Given the description of an element on the screen output the (x, y) to click on. 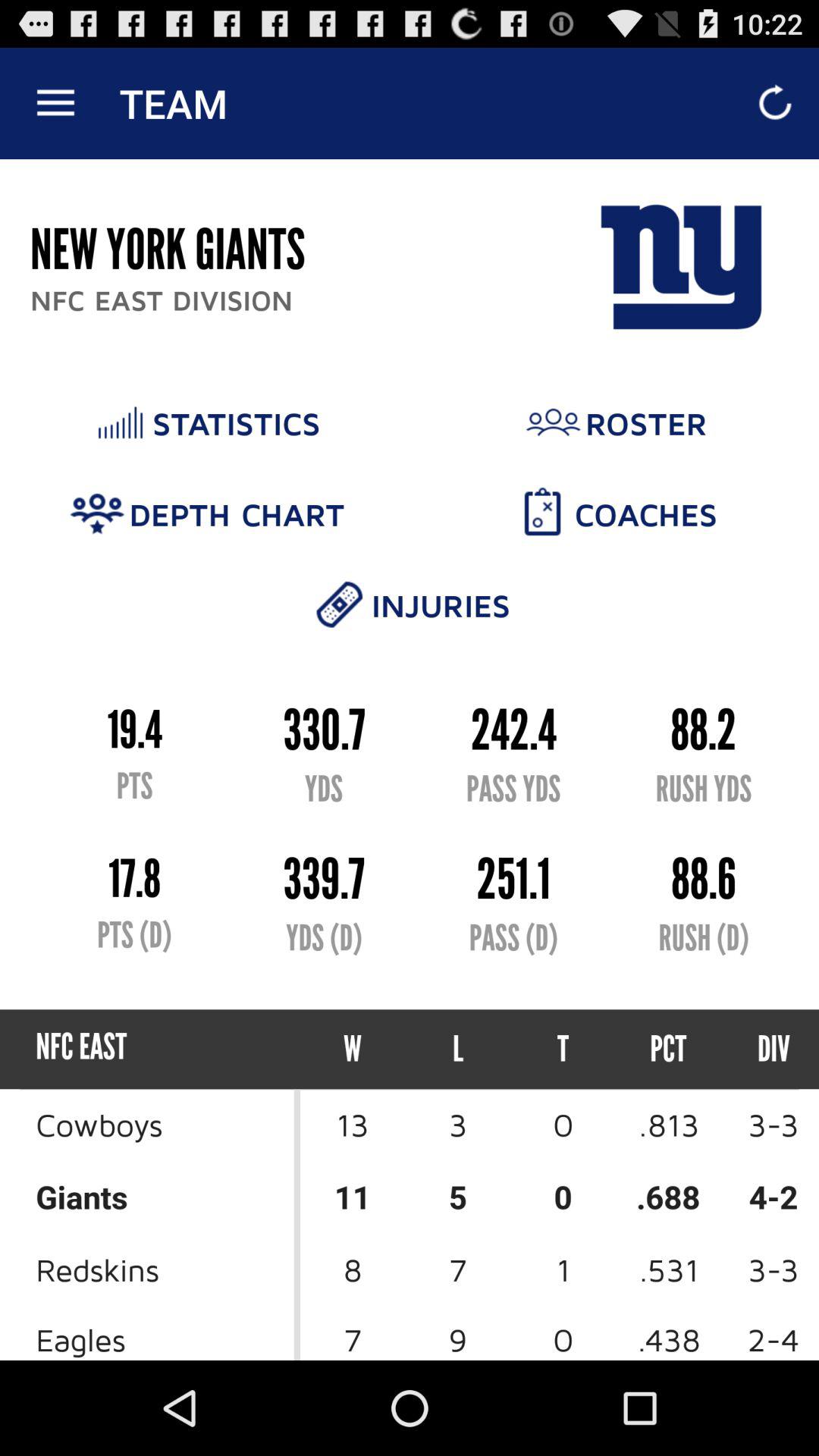
tap item above 0 (668, 1049)
